Given the description of an element on the screen output the (x, y) to click on. 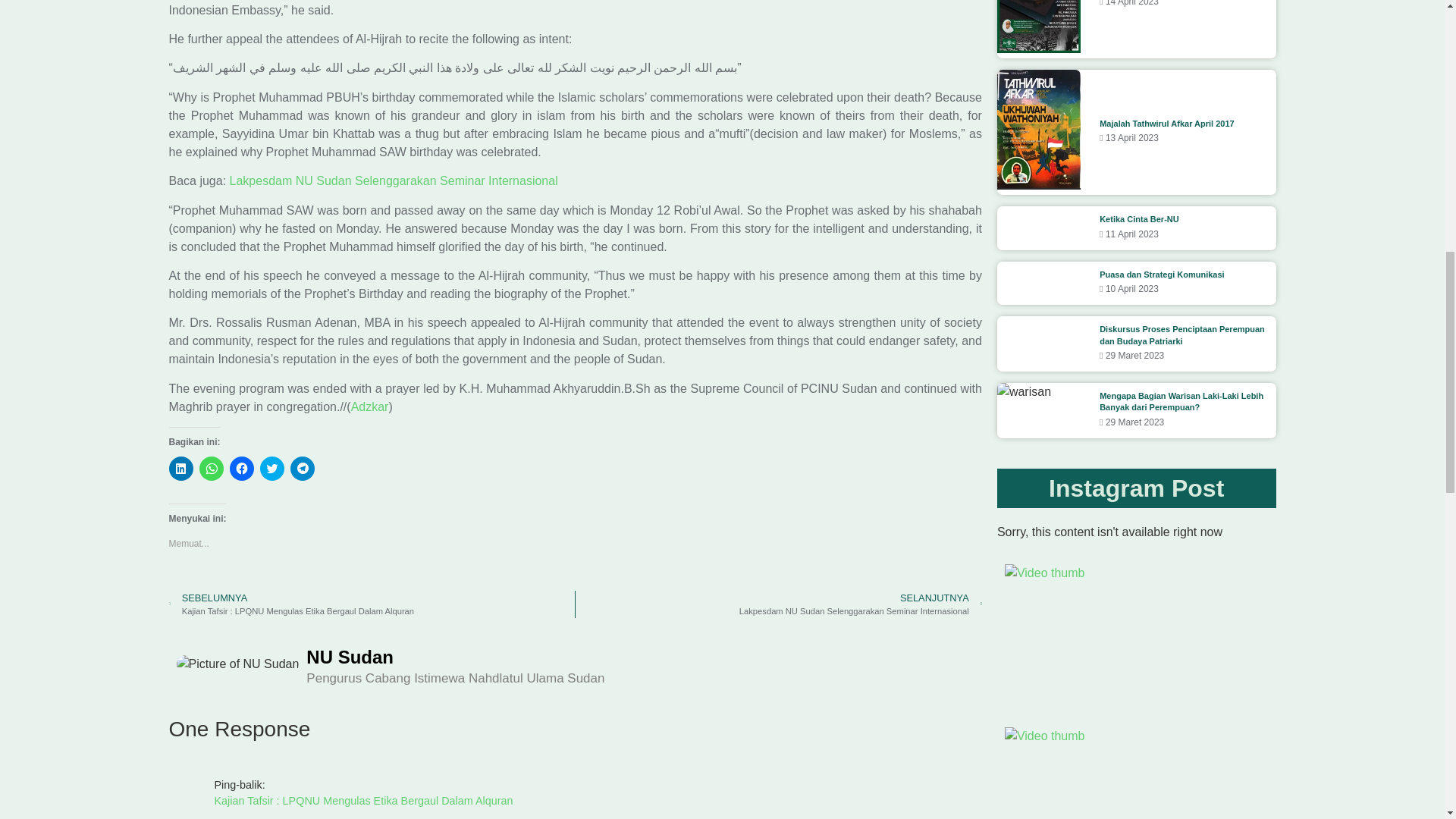
Lakpesdam NU Sudan Selenggarakan Seminar Internasional (393, 180)
Klik untuk berbagi di Telegram (301, 468)
Klik untuk berbagi di WhatsApp (210, 468)
Klik untuk berbagi pada Twitter (271, 468)
Adzkar (369, 406)
Klik untuk berbagi di Linkedln (180, 468)
Klik untuk membagikan di Facebook (240, 468)
Majalah Tathwirul Afkar April 2017 (1166, 122)
Kajian Tafsir : LPQNU Mengulas Etika Bergaul Dalam Alquran (597, 801)
